Given the description of an element on the screen output the (x, y) to click on. 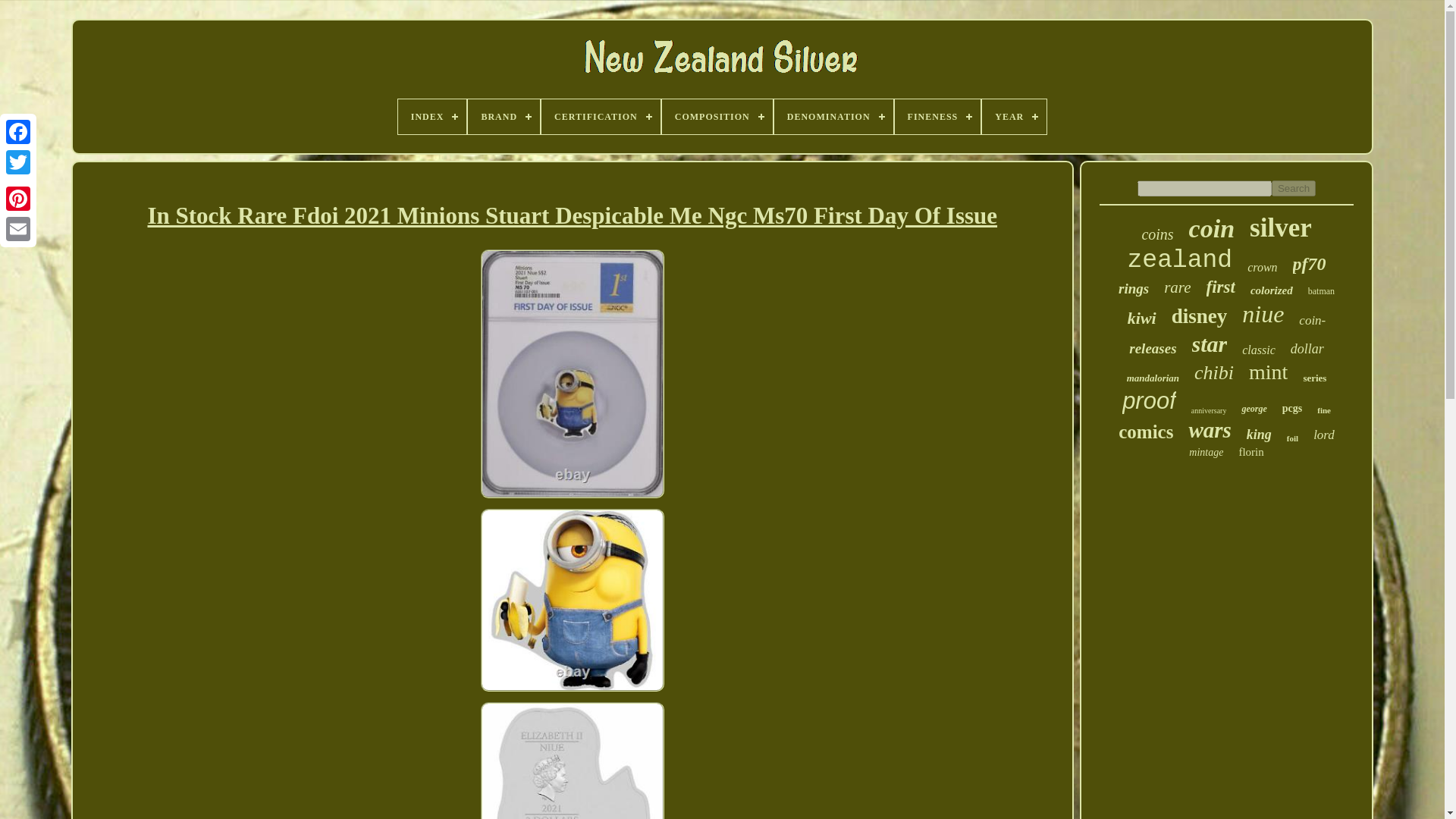
Pinterest (17, 198)
BRAND (503, 116)
Search (1293, 188)
CERTIFICATION (601, 116)
INDEX (432, 116)
